Given the description of an element on the screen output the (x, y) to click on. 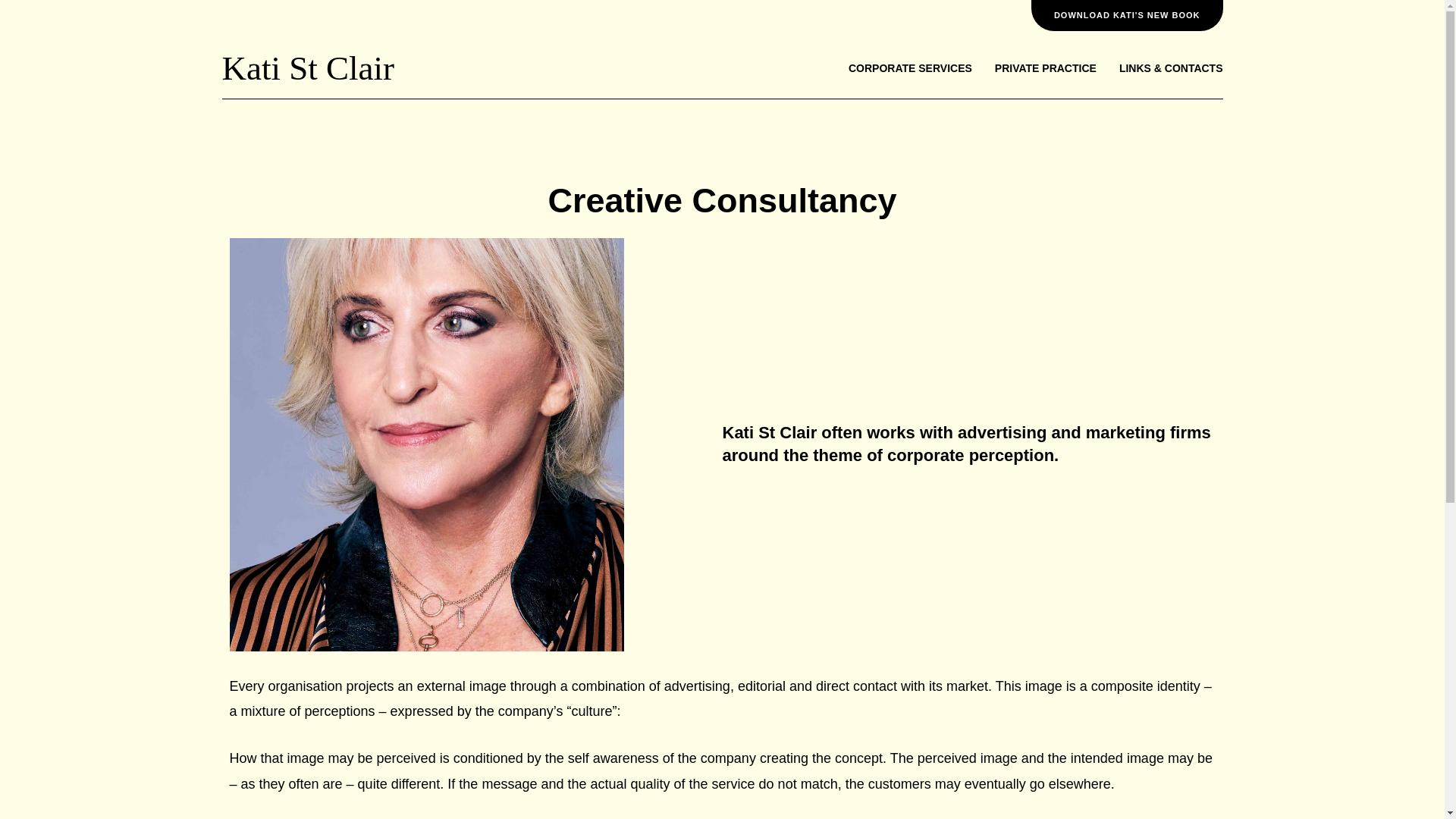
PRIVATE PRACTICE (1045, 68)
DOWNLOAD KATI'S NEW BOOK (1126, 15)
Kati St Clair (307, 67)
CORPORATE SERVICES (910, 68)
